Given the description of an element on the screen output the (x, y) to click on. 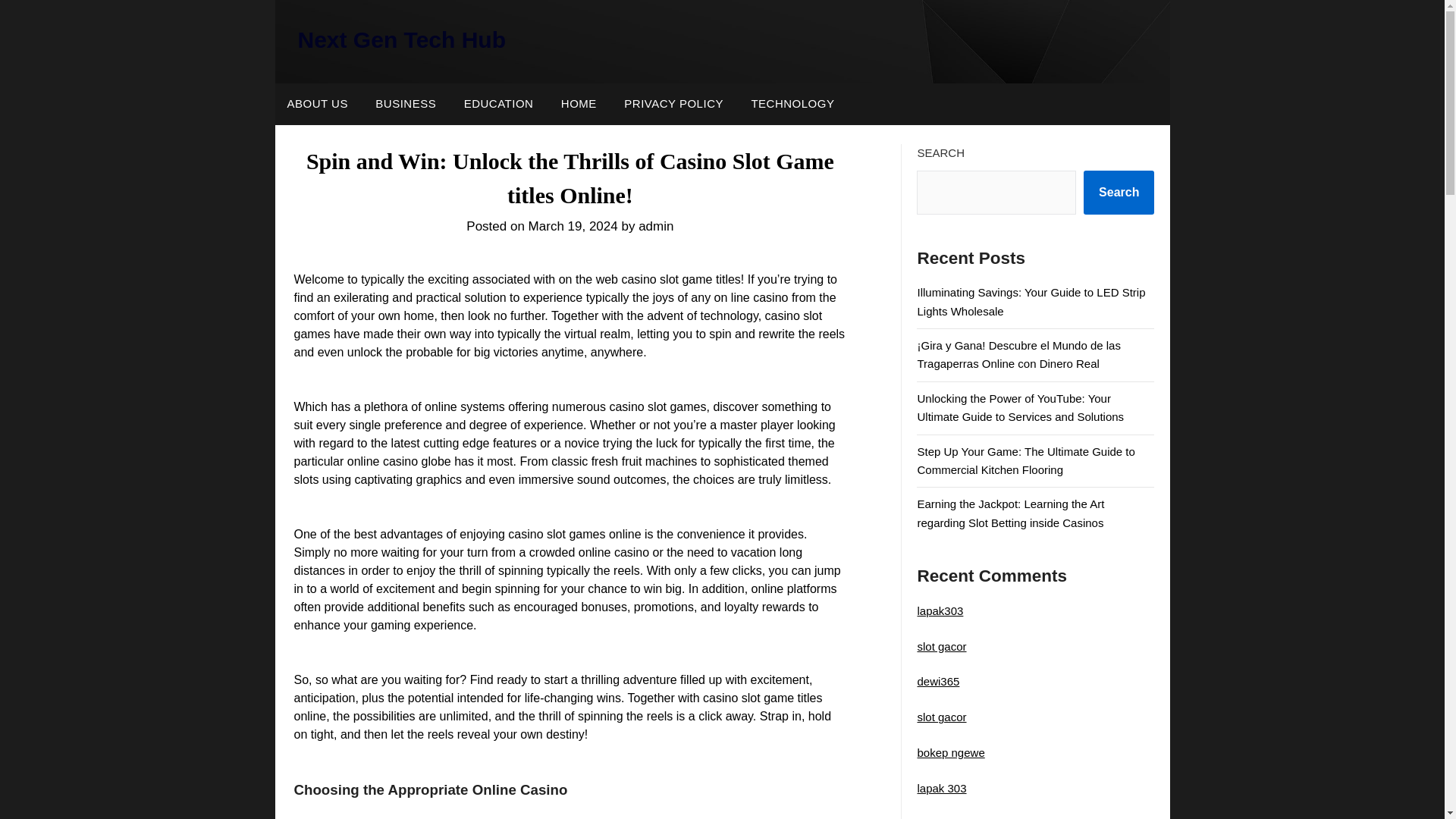
situs slot (938, 818)
March 19, 2024 (572, 226)
slot gacor (941, 716)
BUSINESS (405, 103)
ABOUT US (317, 103)
Search (1118, 192)
bokep ngewe (950, 752)
lapak303 (939, 610)
